Given the description of an element on the screen output the (x, y) to click on. 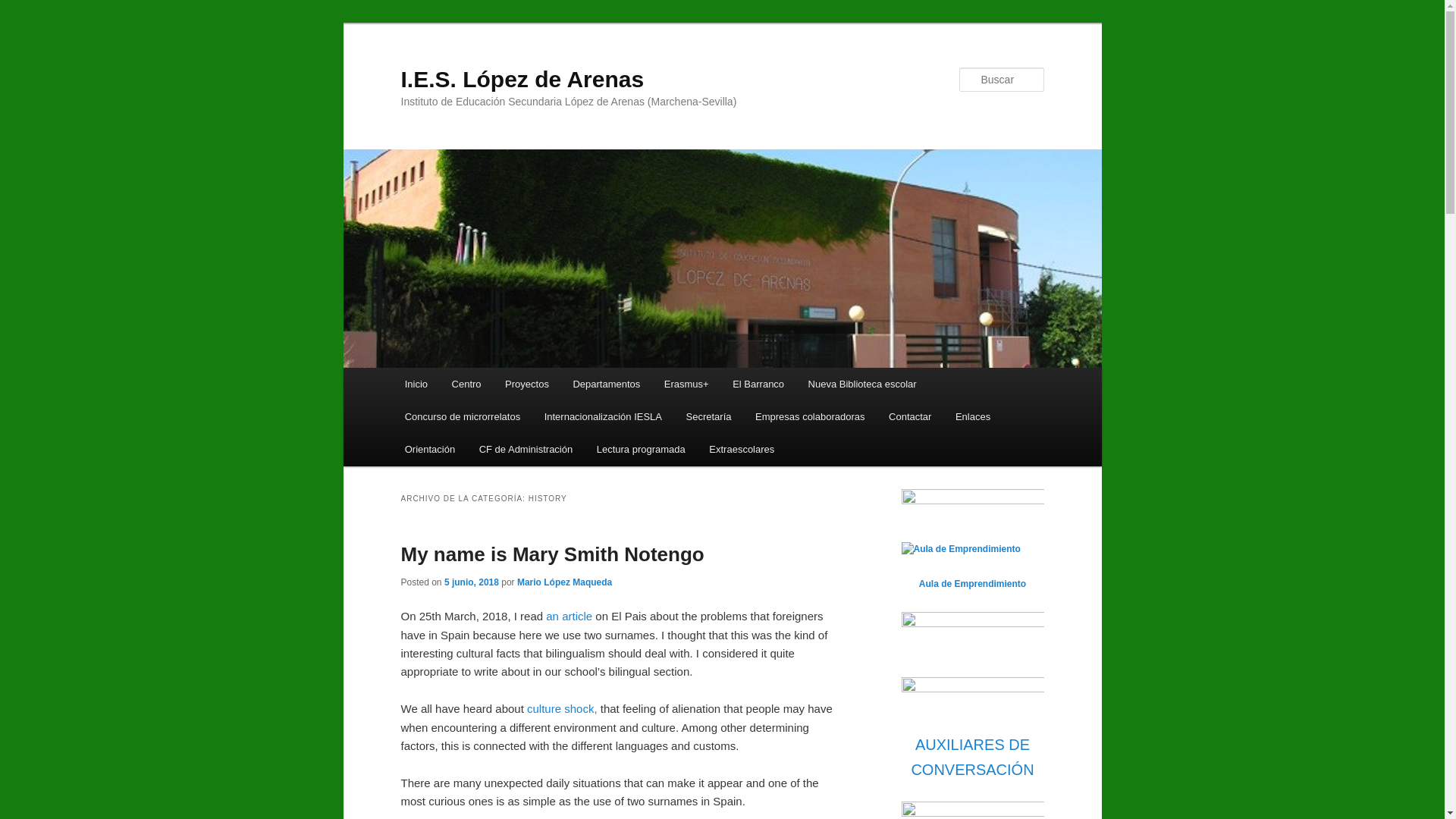
Aula de Emprendimiento (960, 549)
18:46 (471, 582)
Centro (466, 383)
Proyectos (526, 383)
Inicio (416, 383)
Buscar (24, 8)
